Given the description of an element on the screen output the (x, y) to click on. 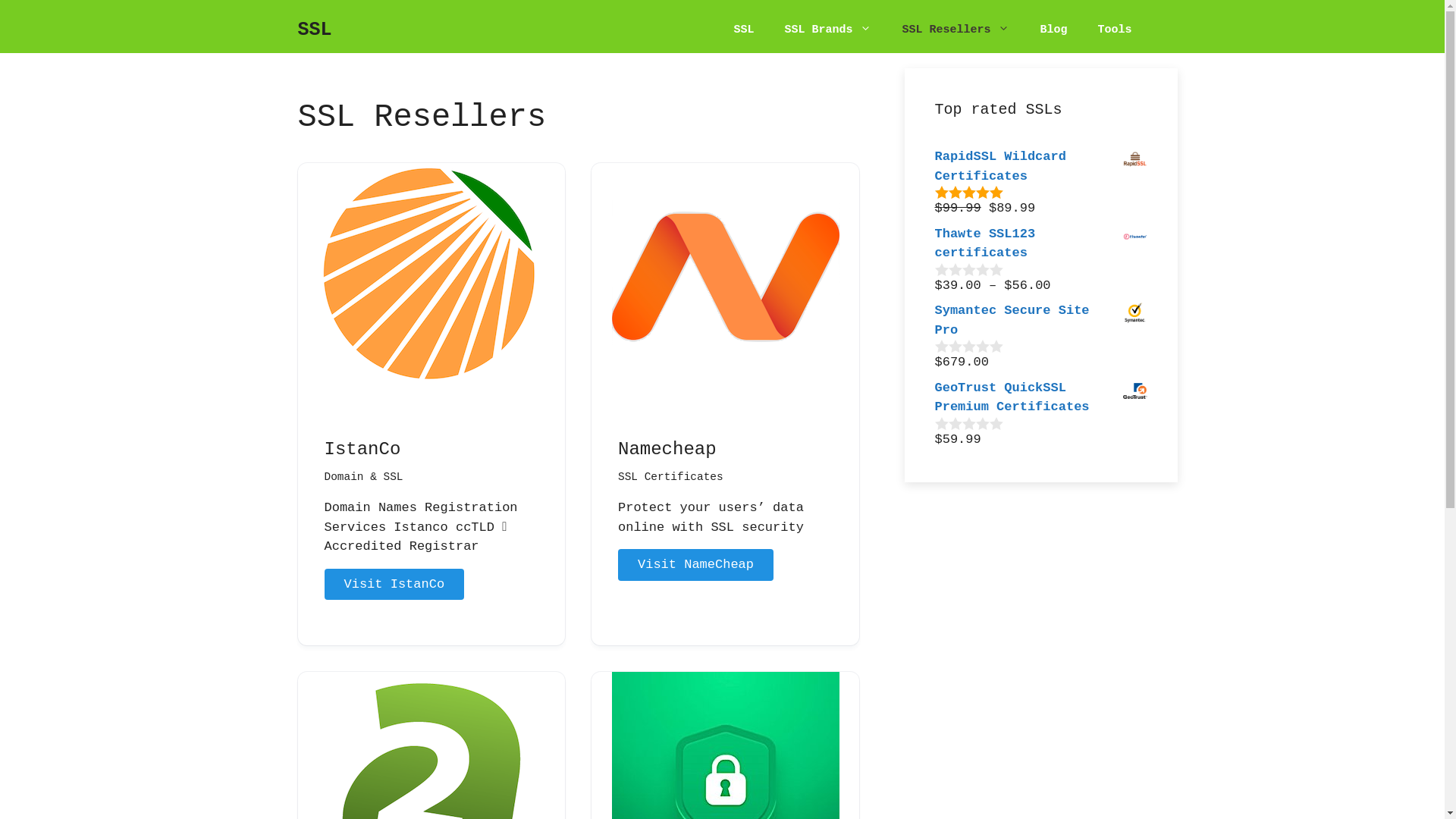
Visit IstanCo Element type: text (394, 584)
Not yet rated Element type: hover (969, 268)
SSL Resellers Element type: text (955, 30)
Blog Element type: text (1053, 30)
RapidSSL Wildcard Certificates Element type: text (1040, 166)
Visit NameCheap Element type: text (695, 564)
SSL Brands Element type: text (827, 30)
SSL Element type: text (314, 29)
SSL Element type: text (743, 30)
GeoTrust QuickSSL Premium Certificates Element type: text (1040, 396)
Thawte SSL123 certificates Element type: text (1040, 243)
Not yet rated Element type: hover (969, 345)
Not yet rated Element type: hover (969, 423)
Symantec Secure Site Pro Element type: text (1040, 320)
Tools Element type: text (1114, 30)
